Given the description of an element on the screen output the (x, y) to click on. 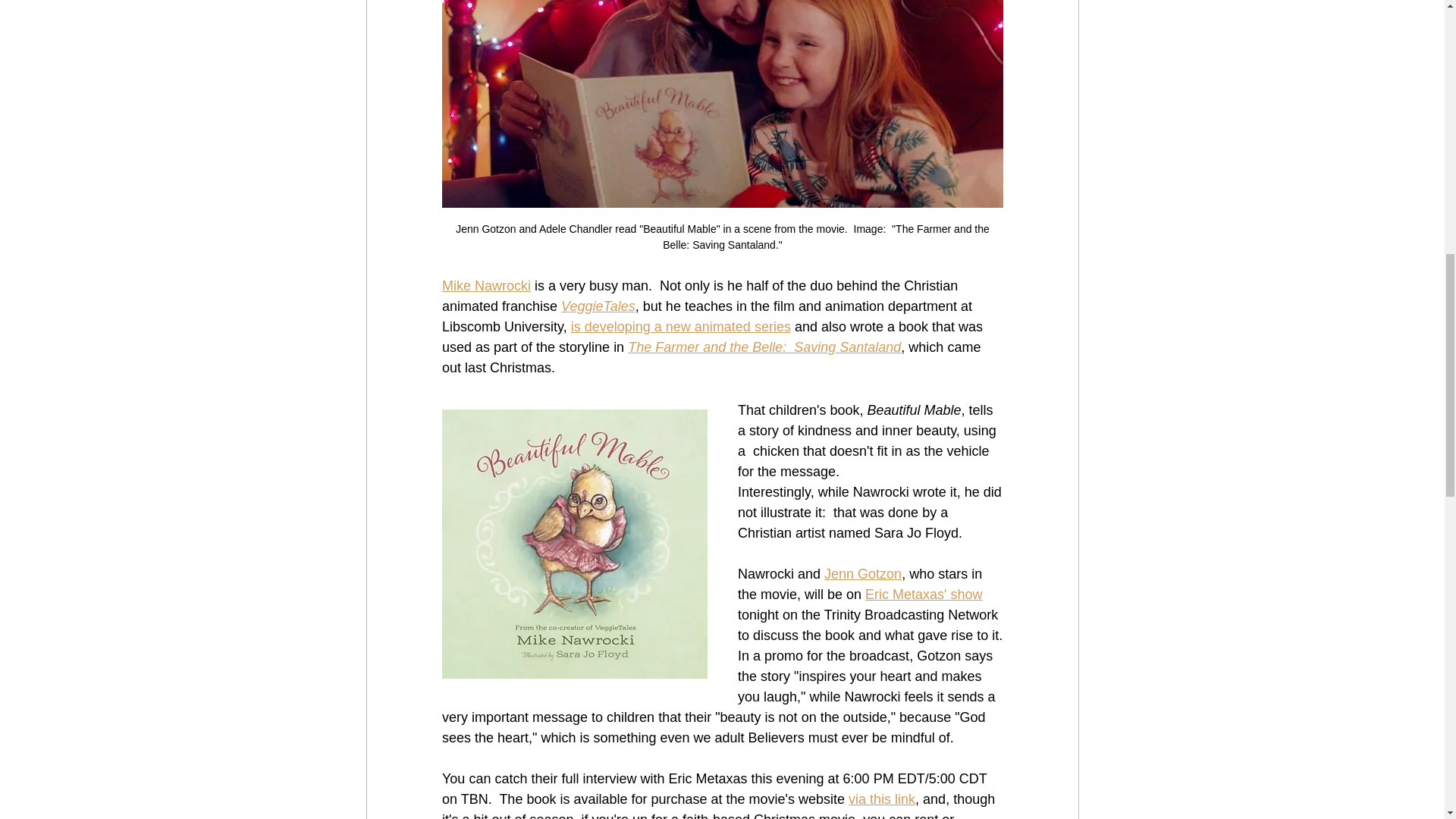
VeggieTales (597, 305)
The Farmer and the Belle:  Saving Santaland (764, 346)
Eric Metaxas' show (923, 594)
is developing a new animated series (680, 326)
Mike Nawrocki (485, 285)
via this link (881, 798)
Jenn Gotzon (862, 573)
